Given the description of an element on the screen output the (x, y) to click on. 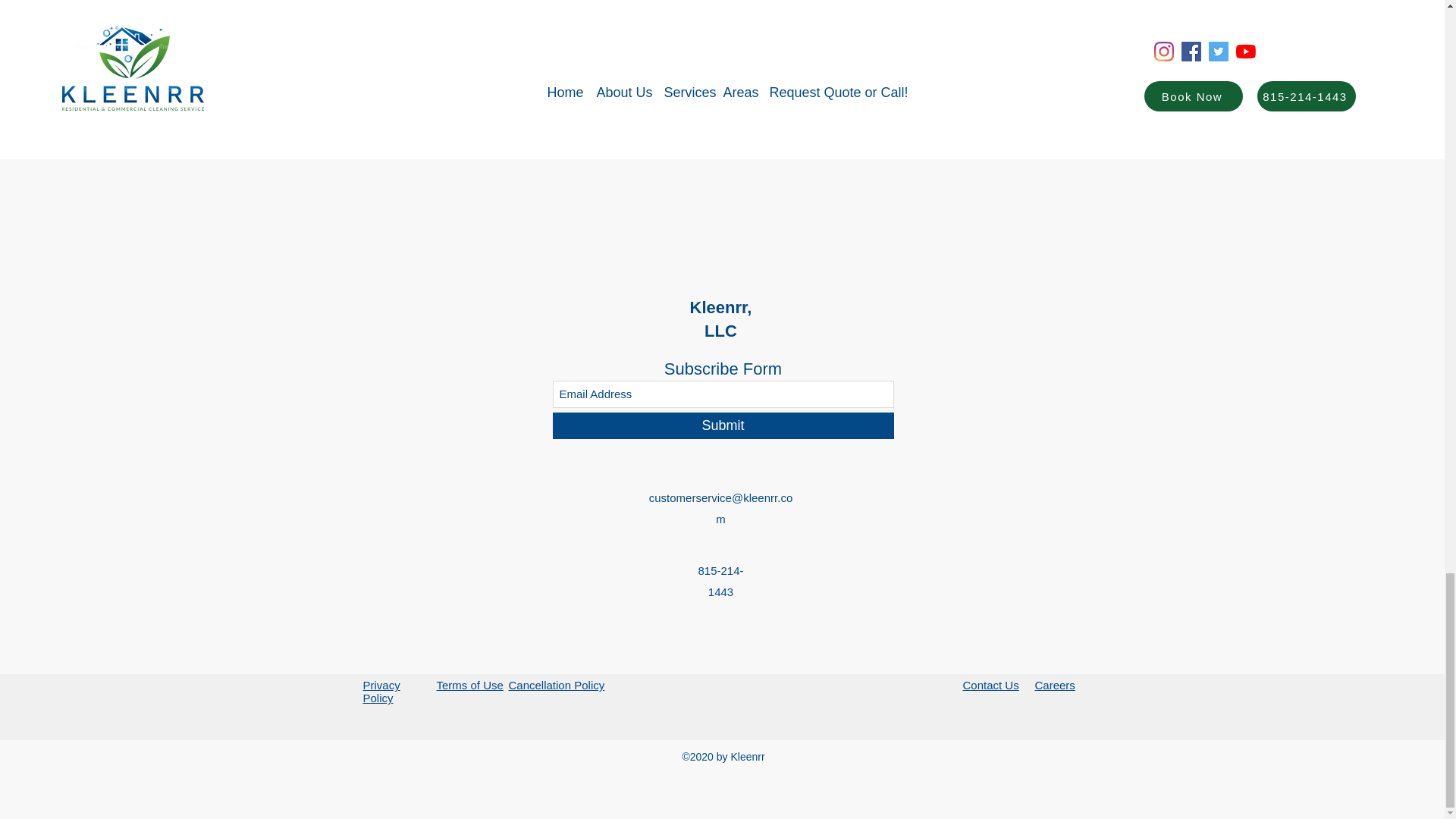
0 (435, 103)
Post not marked as liked (558, 102)
0 (685, 103)
0 (931, 103)
Post not marked as liked (804, 102)
